Given the description of an element on the screen output the (x, y) to click on. 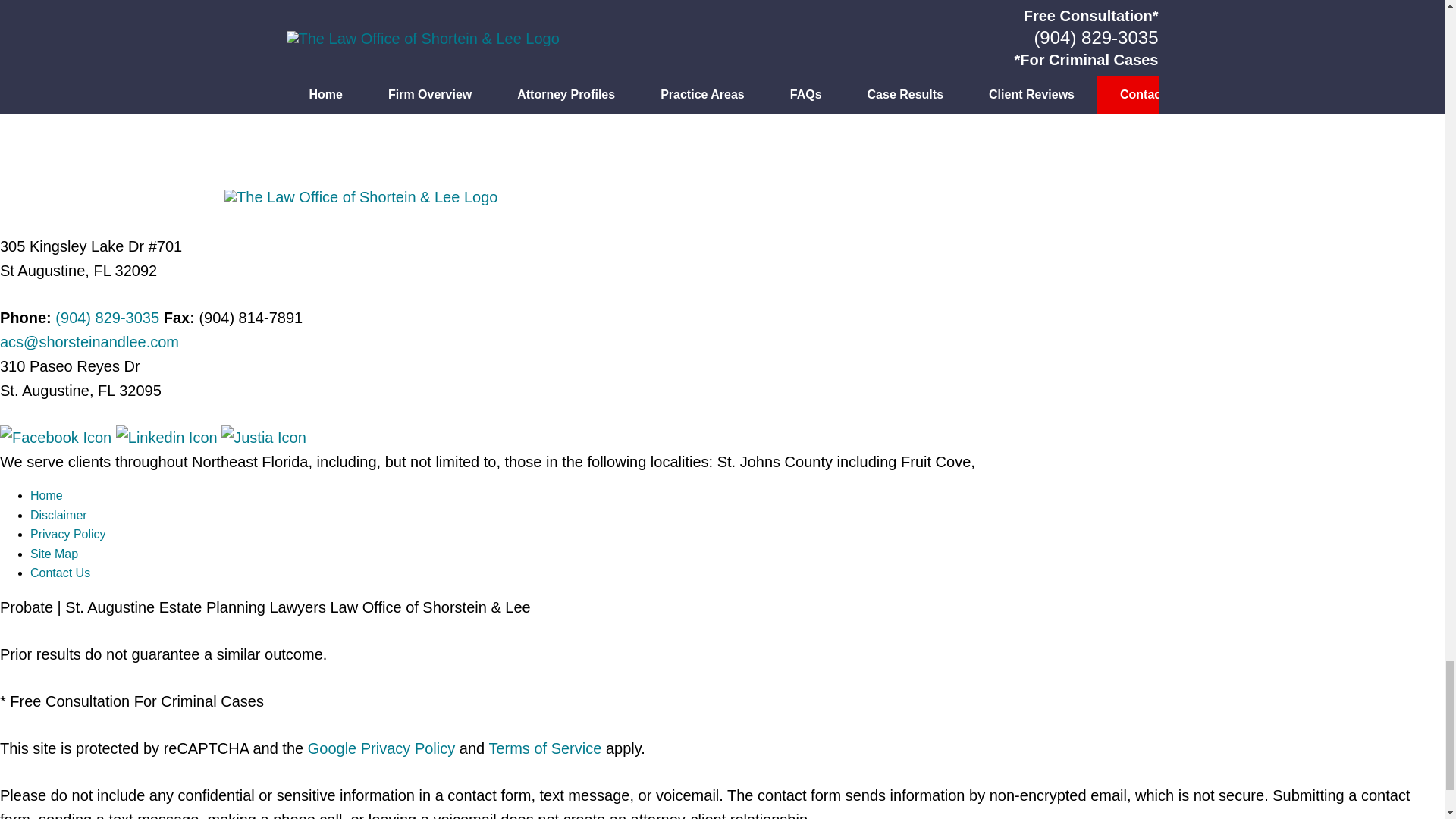
Site Map (54, 553)
Contact Us Now (721, 32)
Linkedin (168, 437)
Google Privacy Policy (381, 748)
Terms of Service (544, 748)
Justia (263, 437)
Contact Us (60, 572)
Disclaimer (58, 514)
Privacy Policy (68, 533)
Home (46, 495)
